Given the description of an element on the screen output the (x, y) to click on. 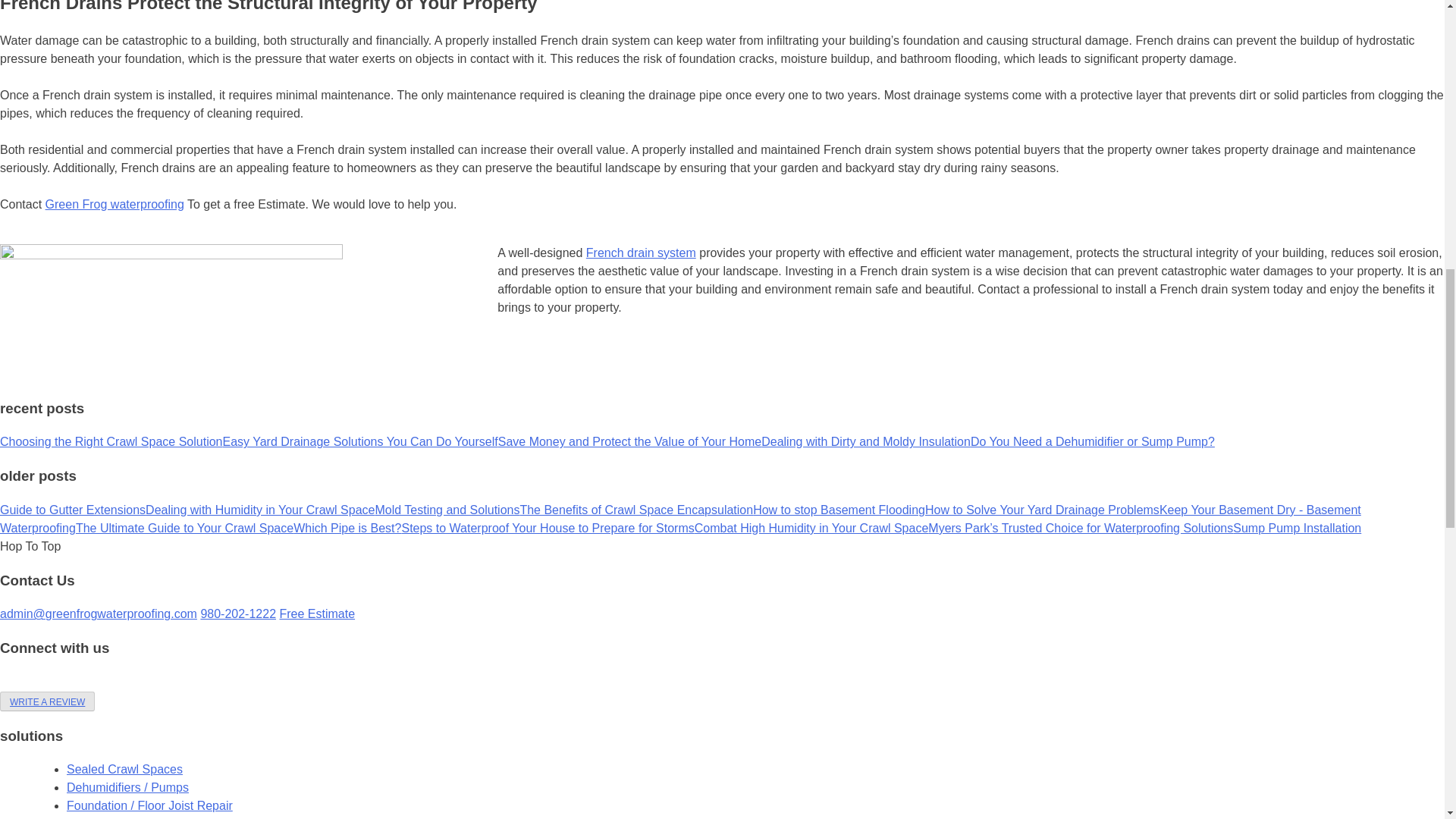
Save Money and Protect the Value of Your Home (629, 440)
The Ultimate Guide to Your Crawl Space (184, 527)
Free Estimate (317, 613)
WRITE A REVIEW (47, 701)
French drain system (640, 252)
980-202-1222 (238, 613)
Easy Yard Drainage Solutions You Can Do Yourself (359, 440)
Combat High Humidity in Your Crawl Space (811, 527)
Guide to Gutter Extensions (72, 509)
The Benefits of Crawl Space Encapsulation (635, 509)
Mold Testing and Solutions (446, 509)
Steps to Waterproof Your House to Prepare for Storms (547, 527)
Keep Your Basement Dry - Basement Waterproofing (680, 518)
Dealing with Humidity in Your Crawl Space (259, 509)
WRITE A REVIEW (47, 701)
